Given the description of an element on the screen output the (x, y) to click on. 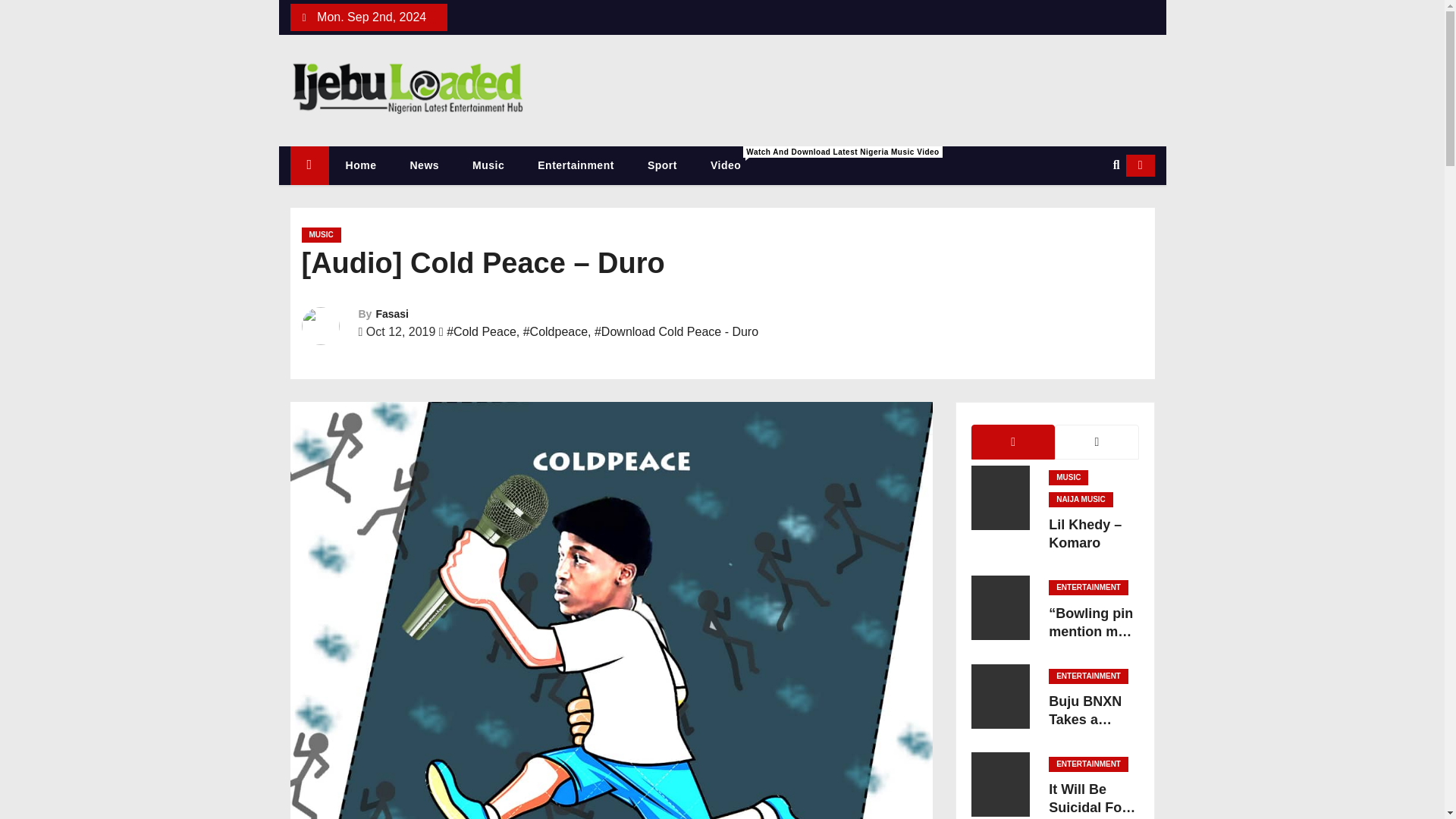
News (424, 165)
Video (725, 165)
Fasasi (392, 313)
Music (488, 165)
News (424, 165)
Sport (662, 165)
Entertainment (575, 165)
Music (488, 165)
Sport (662, 165)
MUSIC (320, 234)
